Given the description of an element on the screen output the (x, y) to click on. 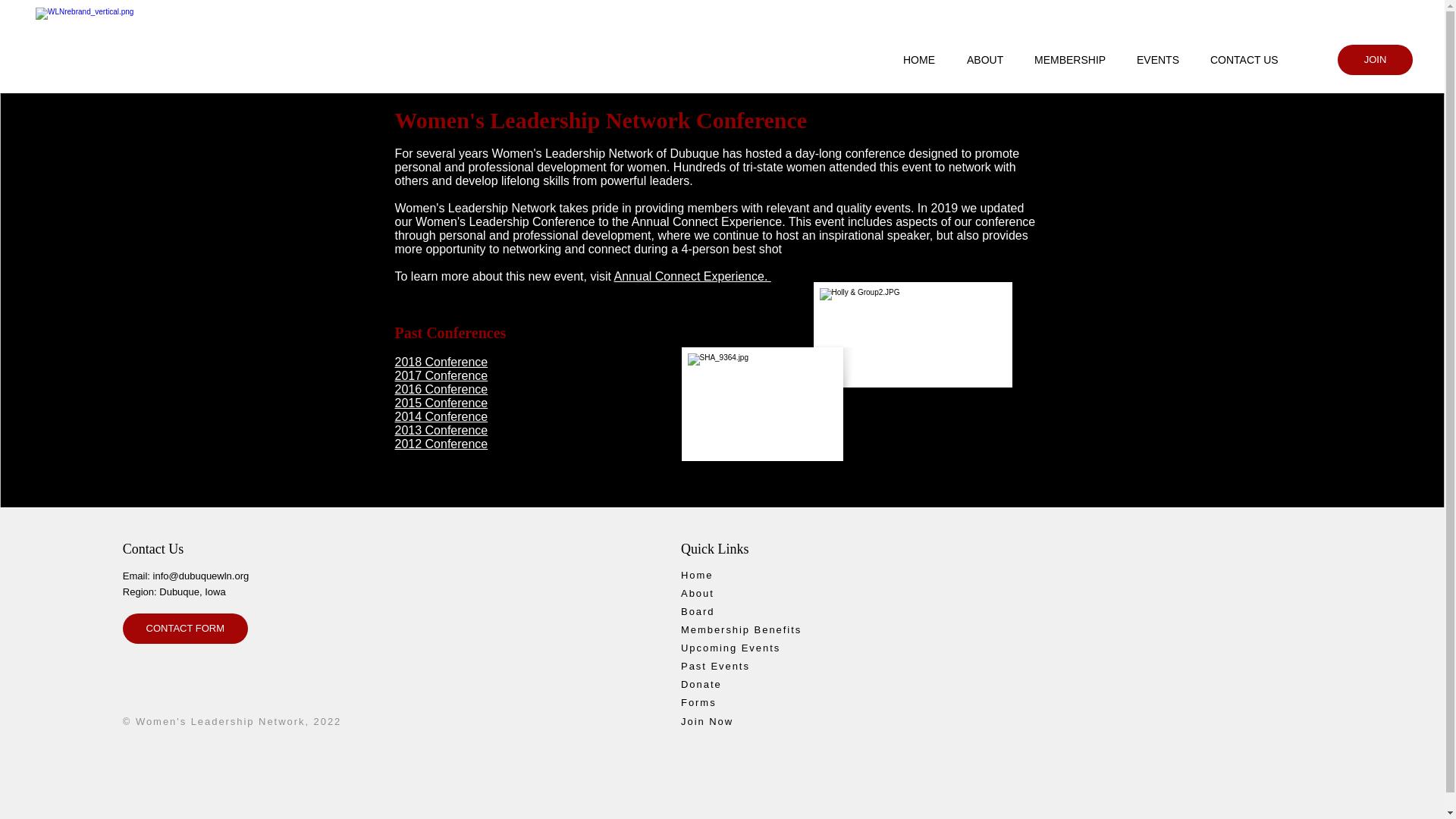
Upcoming Events (748, 647)
Home (736, 574)
Donate (741, 683)
Forms (736, 702)
2012 Conference (440, 443)
Membership Benefits (748, 629)
2015 Conference (440, 402)
JOIN (1375, 60)
Annual Connect Experience.  (692, 276)
About (736, 592)
2013 Conference (440, 430)
2014 Conference (440, 416)
CONTACT US (1251, 59)
Board (736, 611)
2017 Conference (440, 375)
